Given the description of an element on the screen output the (x, y) to click on. 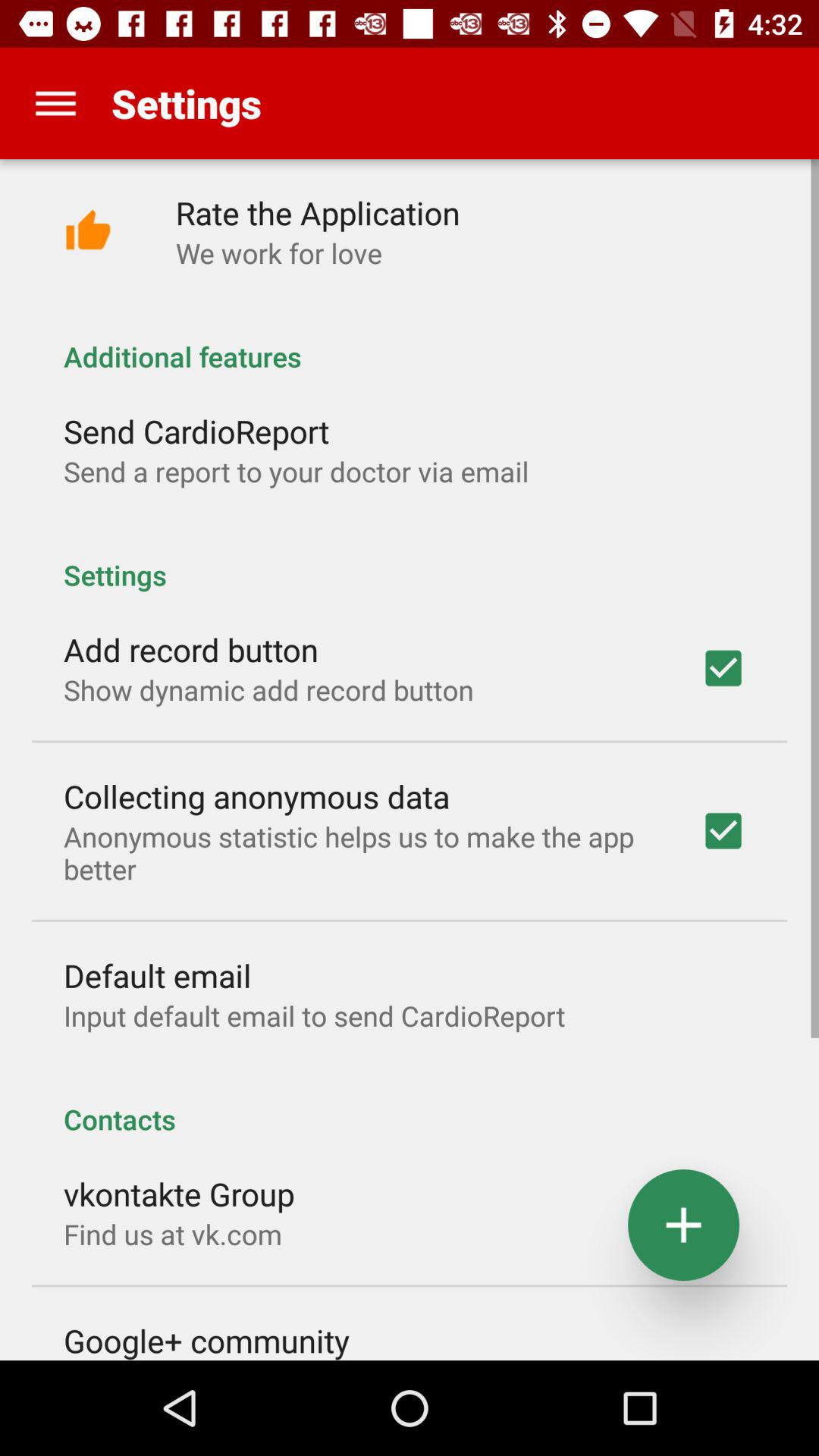
select the app to the left of the settings (55, 103)
